Given the description of an element on the screen output the (x, y) to click on. 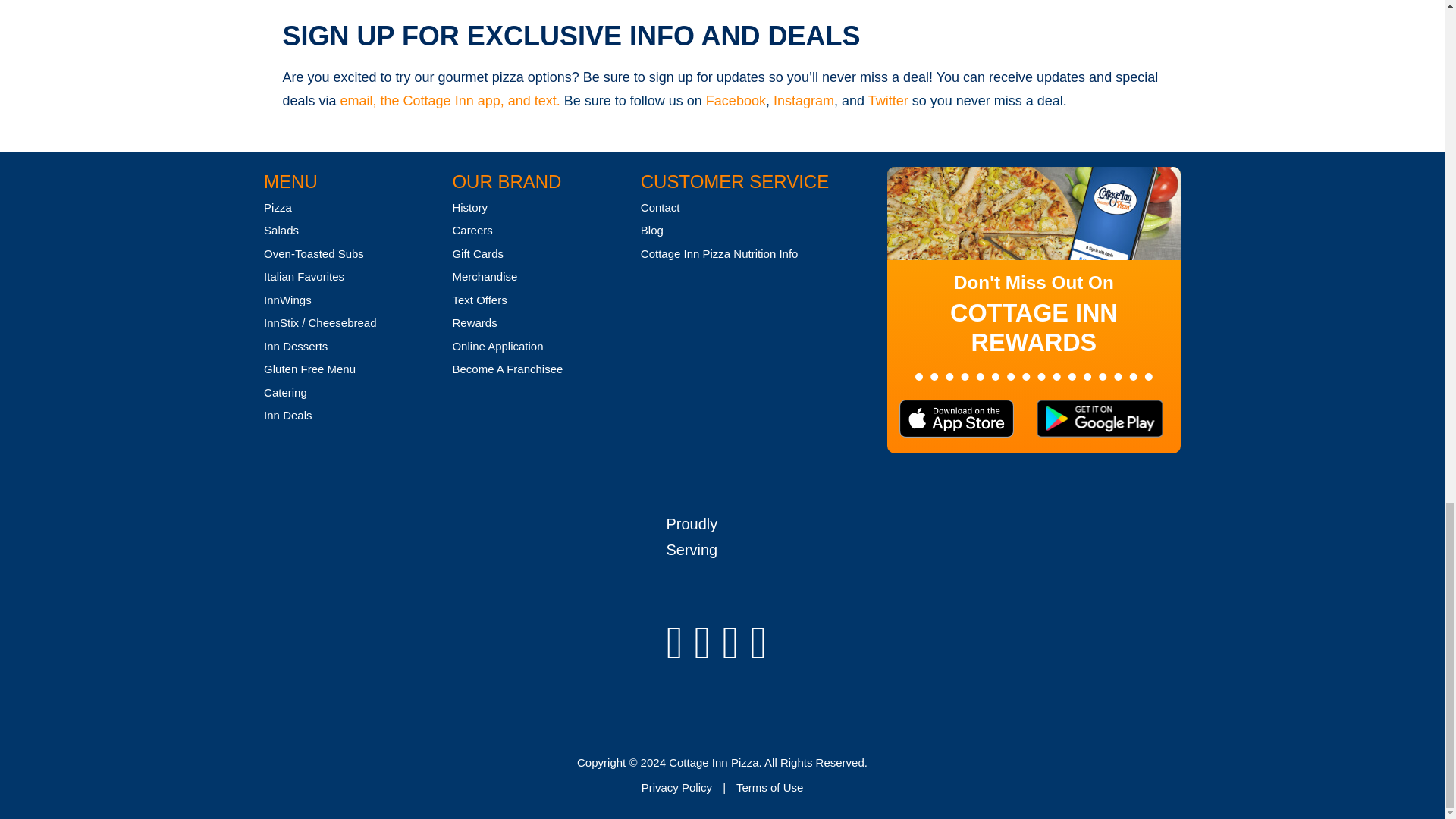
Pizza (277, 206)
Menu (290, 181)
Rewards (473, 322)
Gluten Free Menu (309, 368)
History (469, 206)
Catering (285, 391)
Facebook (735, 100)
Text Offers (478, 299)
Oven-Toasted Subs (313, 253)
Twitter (887, 100)
Italian Favorites (303, 276)
email, the Cottage Inn app, and text. (452, 100)
InnWings (287, 299)
Merchandise (483, 276)
Careers (471, 229)
